Given the description of an element on the screen output the (x, y) to click on. 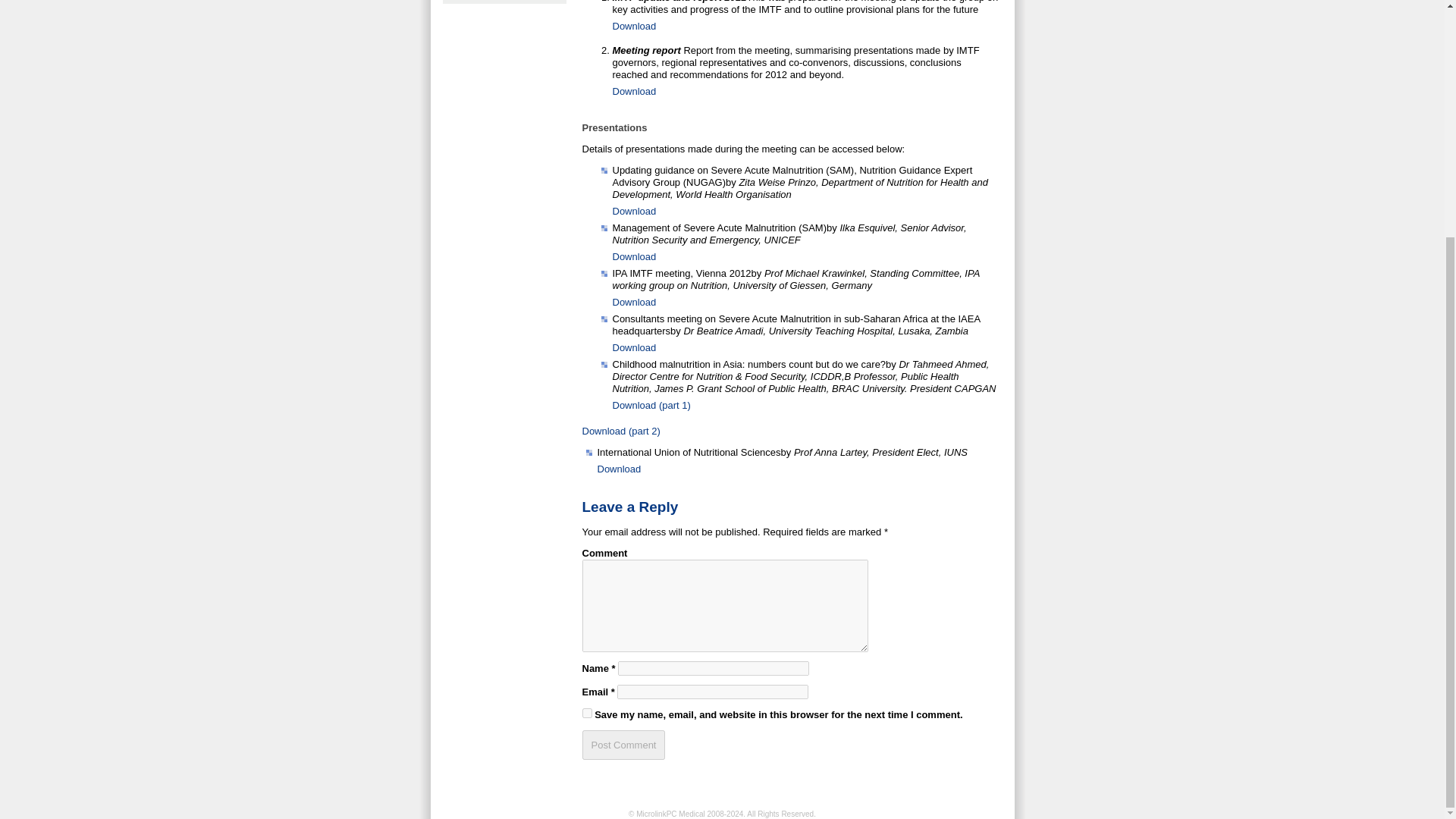
yes (587, 713)
Download (634, 91)
Download (634, 211)
Download (634, 301)
Post Comment (623, 745)
Download (634, 25)
Download (634, 256)
Download (634, 347)
Resources (504, 2)
